Given the description of an element on the screen output the (x, y) to click on. 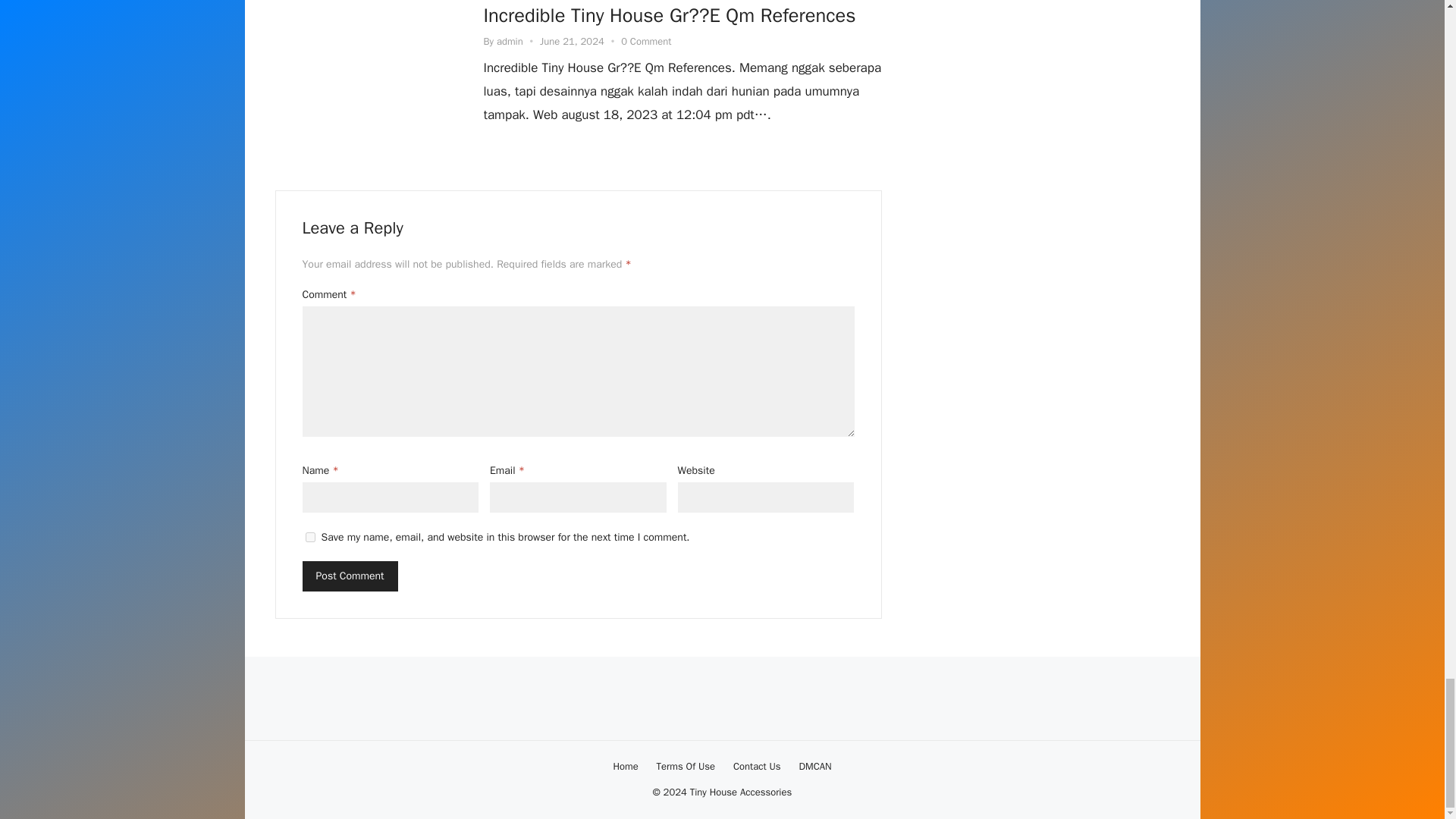
Posts by admin (509, 41)
yes (309, 537)
Post Comment (349, 576)
